Given the description of an element on the screen output the (x, y) to click on. 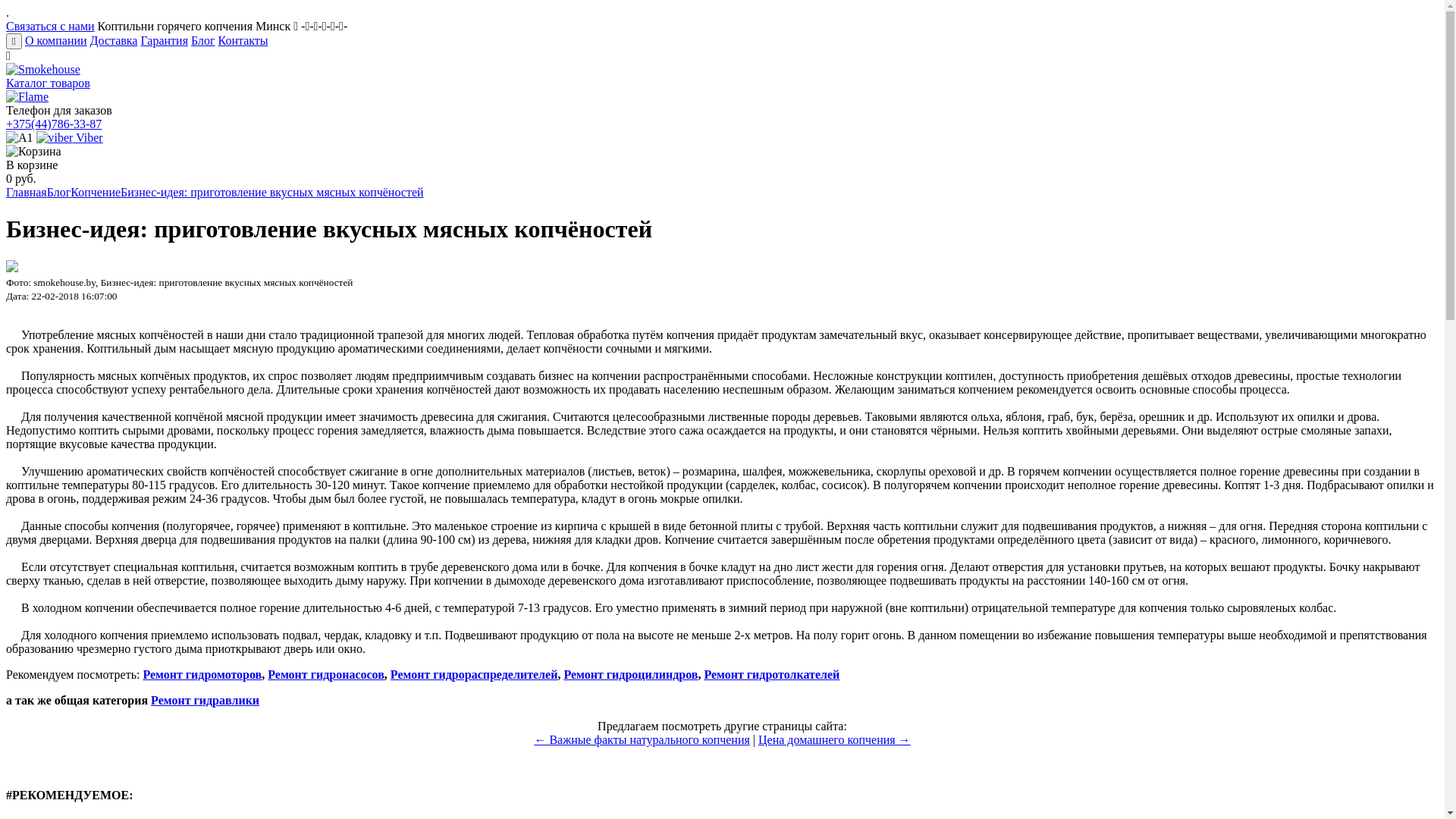
Smokehouse Element type: hover (43, 69)
Viber Element type: text (69, 137)
+375(44)786-33-87 Element type: text (53, 123)
